Given the description of an element on the screen output the (x, y) to click on. 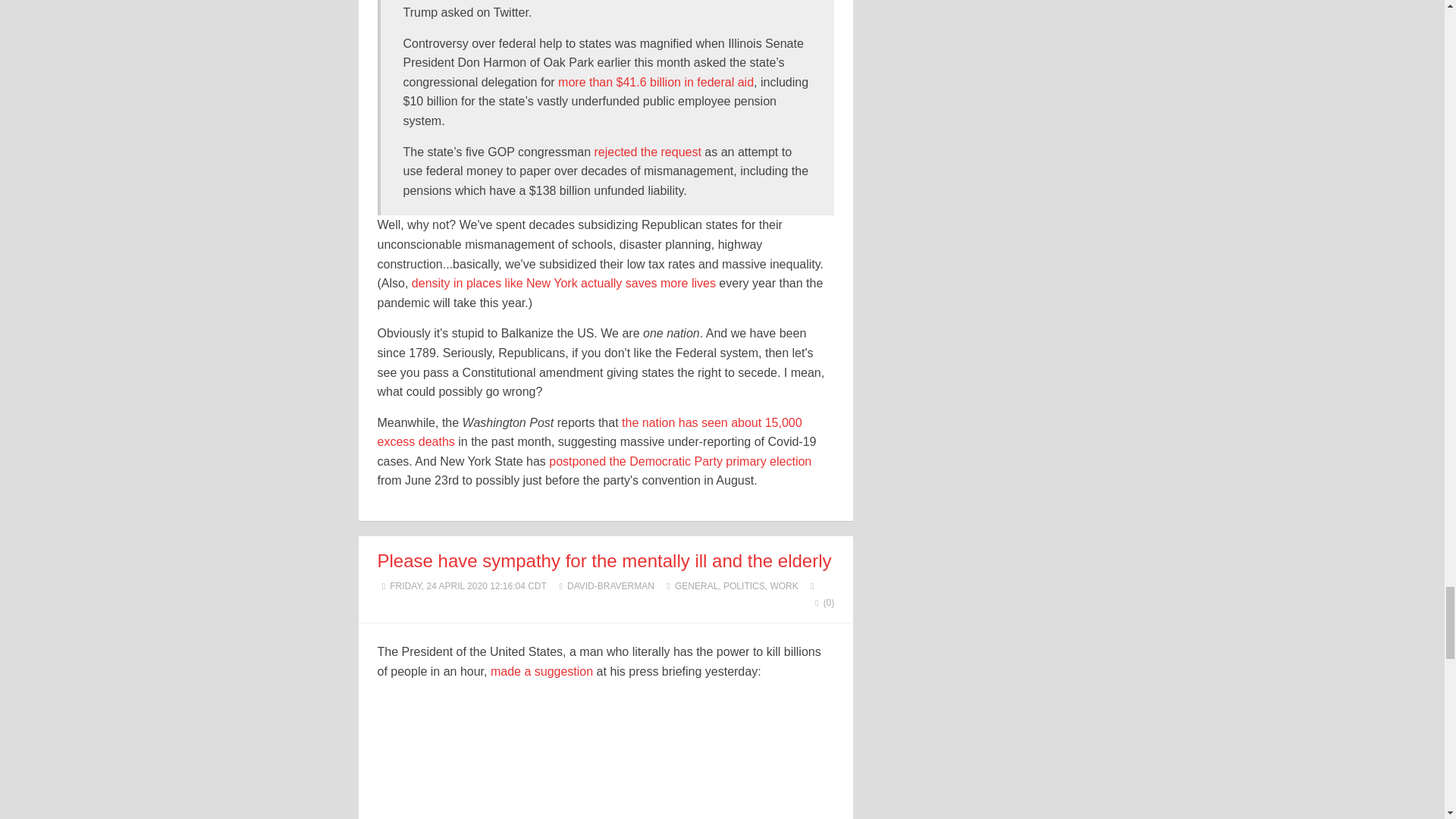
Open a map of the location where this post was written (812, 585)
